Given the description of an element on the screen output the (x, y) to click on. 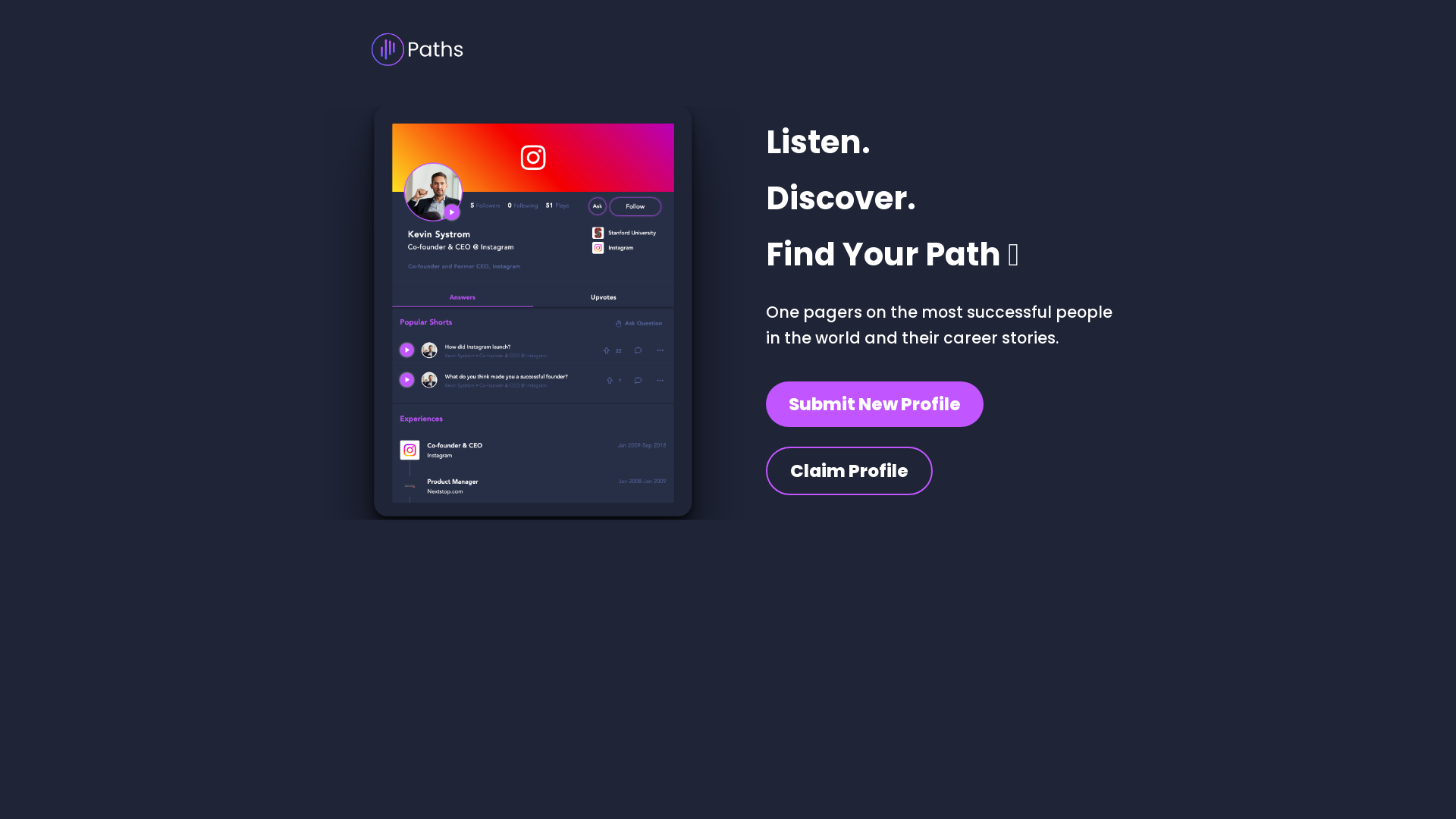
Claim Profile Element type: text (848, 470)
Submit New Profile Element type: text (874, 403)
